Given the description of an element on the screen output the (x, y) to click on. 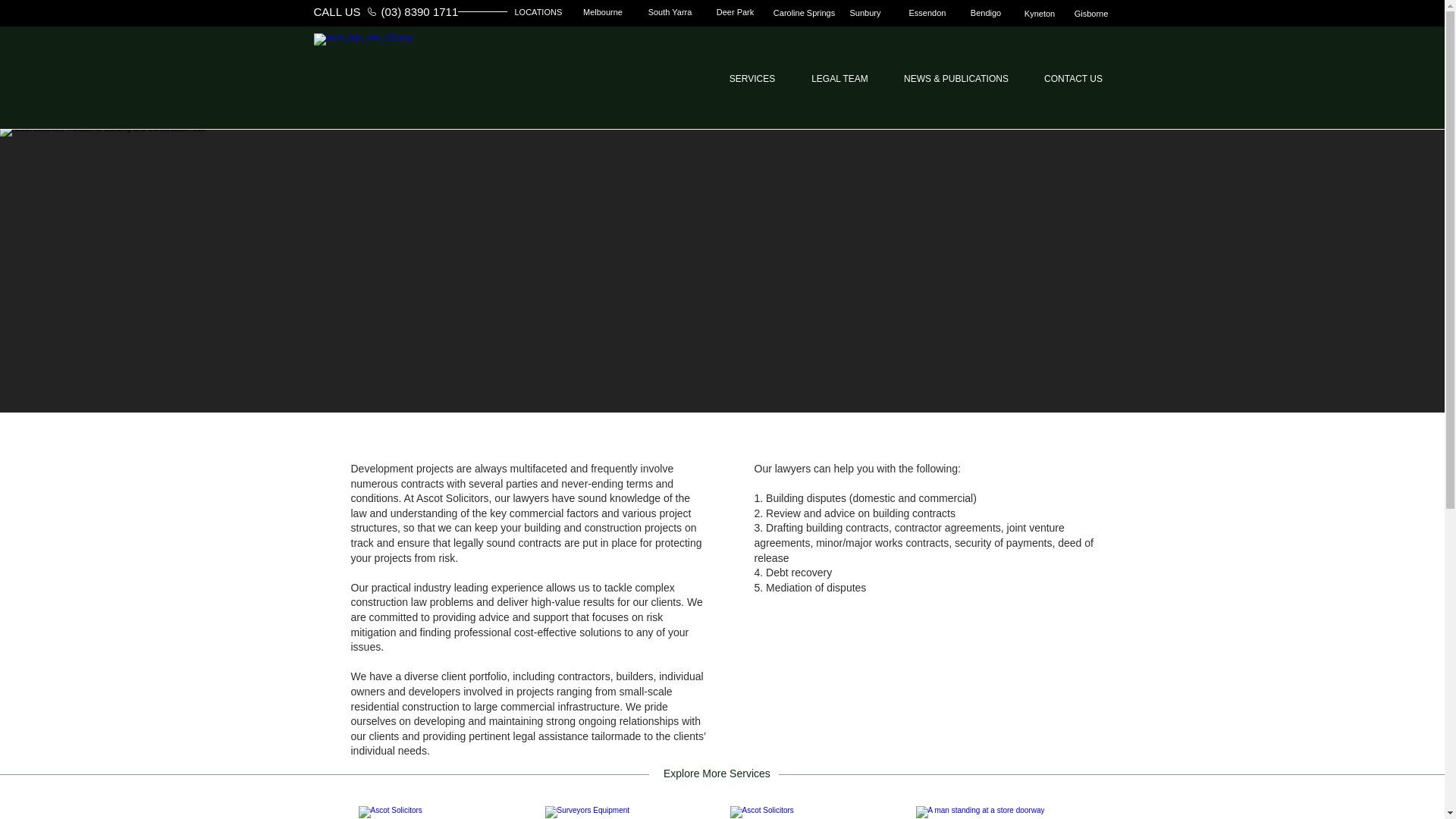
South Yarra (669, 12)
SERVICES (751, 77)
CONTACT US (1073, 77)
Essendon (927, 13)
Kyneton (1039, 13)
Melbourne (603, 12)
Deer Park (734, 11)
Caroline Springs (804, 13)
Sunbury (864, 13)
LEGAL TEAM (839, 77)
